Given the description of an element on the screen output the (x, y) to click on. 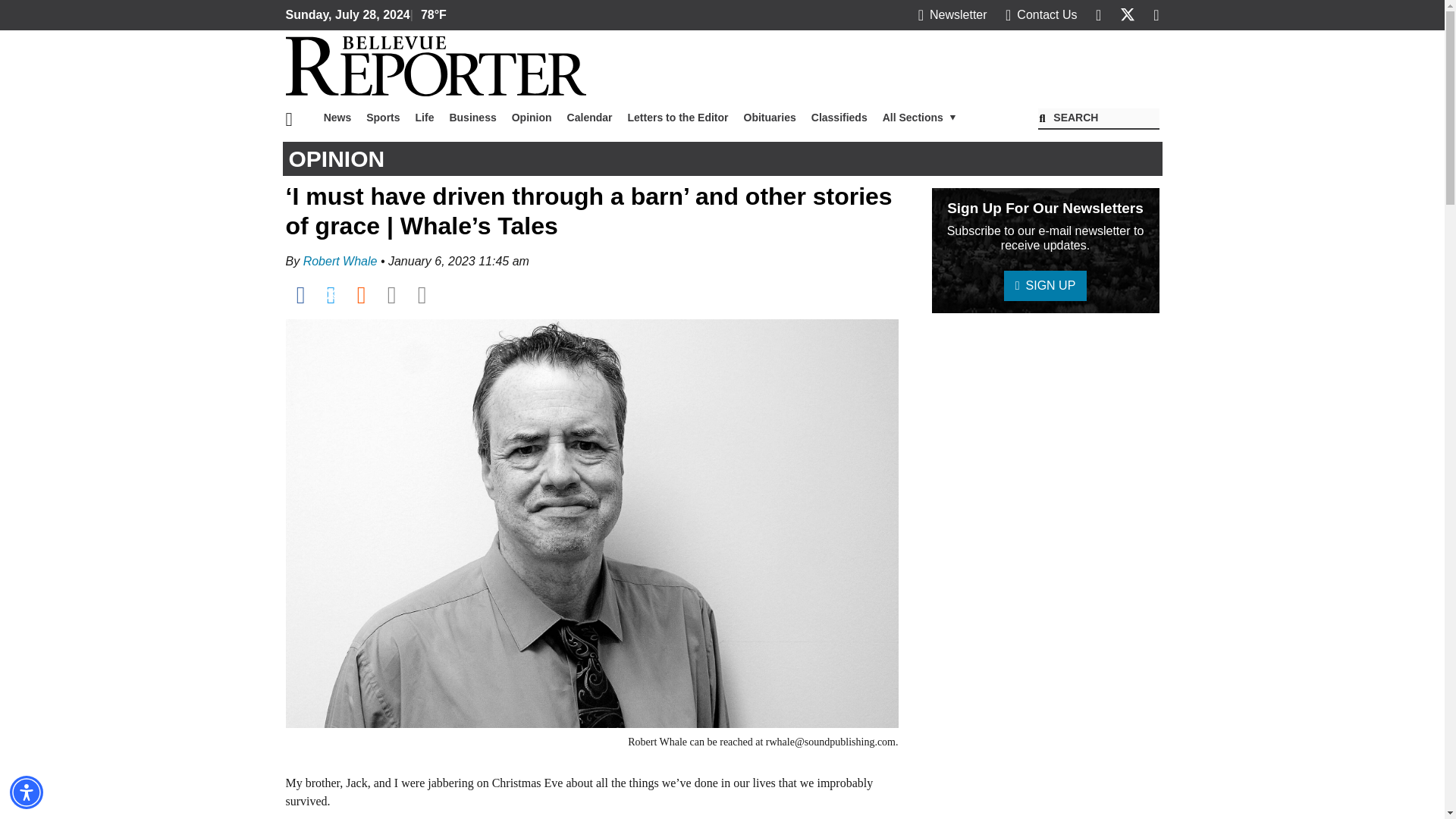
Find Us On Twitter (1127, 14)
Post to Reddit (360, 294)
Sports (382, 117)
Life (424, 117)
Search (1097, 118)
Accessibility Menu (26, 792)
Newsletter (952, 14)
Calendar (589, 117)
Letters to the Editor (678, 117)
bel-logo.svg (435, 66)
Post to Facebook (300, 294)
Email story (390, 294)
All Sections (919, 117)
Print story (421, 294)
Obituaries (769, 117)
